Given the description of an element on the screen output the (x, y) to click on. 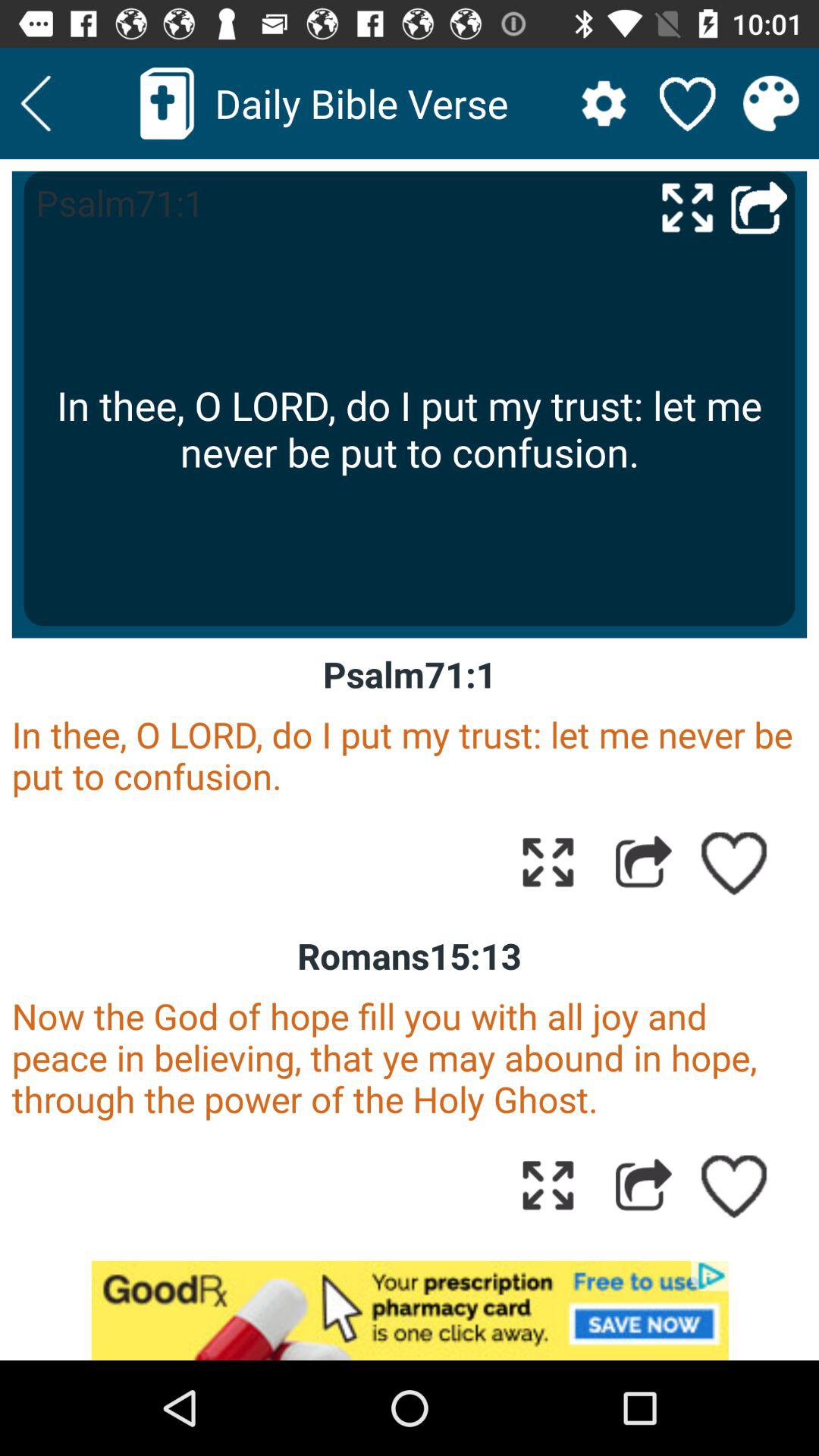
go to light page (35, 103)
